Given the description of an element on the screen output the (x, y) to click on. 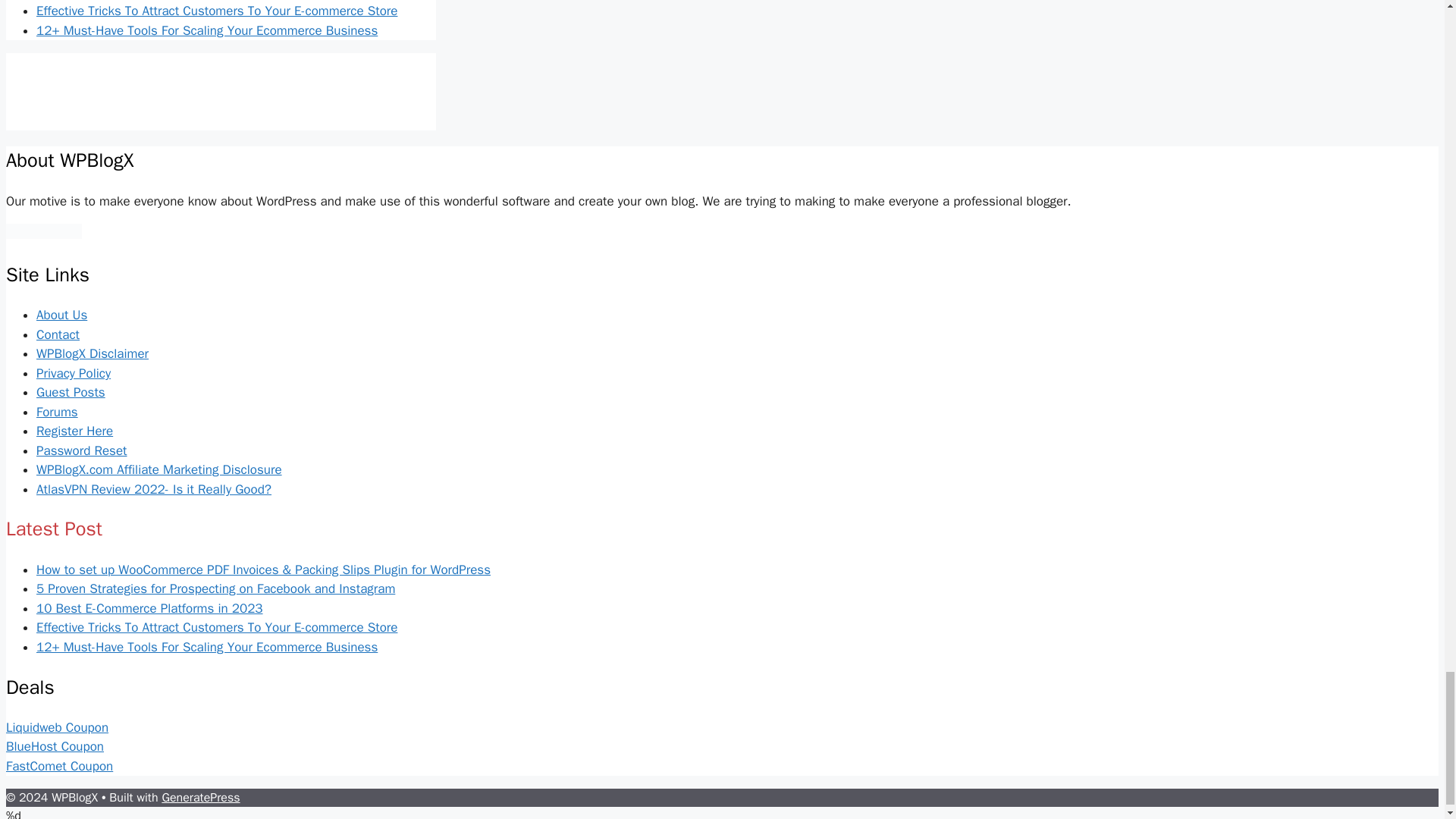
Contact (58, 334)
DMCA.com Protection Status (43, 234)
About Us (61, 314)
